Given the description of an element on the screen output the (x, y) to click on. 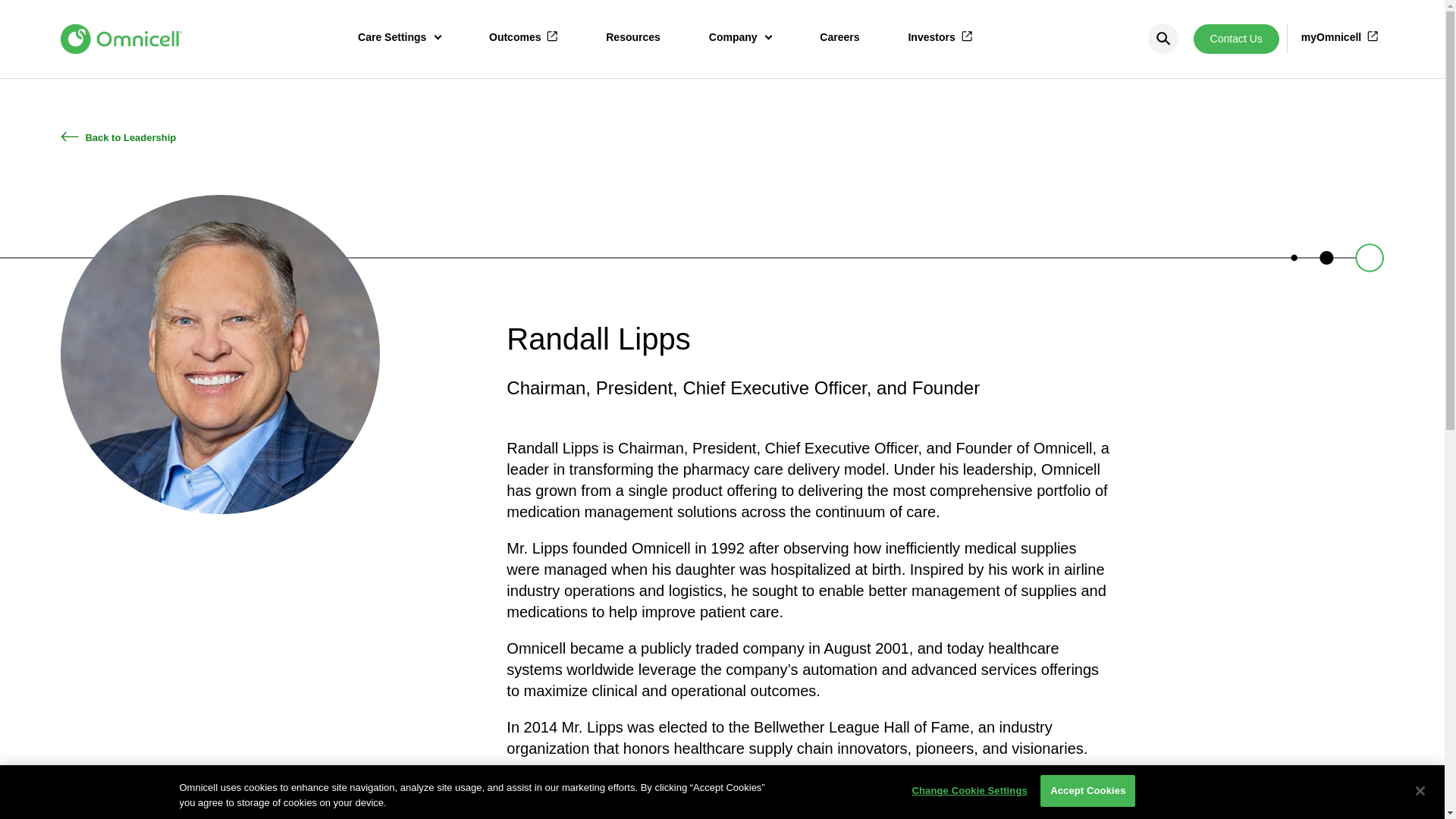
Outcomes (523, 38)
Contact Us (1236, 39)
Home (121, 38)
myOmnicell (1339, 38)
Care Settings (399, 38)
Investors (938, 38)
Company (740, 38)
